Given the description of an element on the screen output the (x, y) to click on. 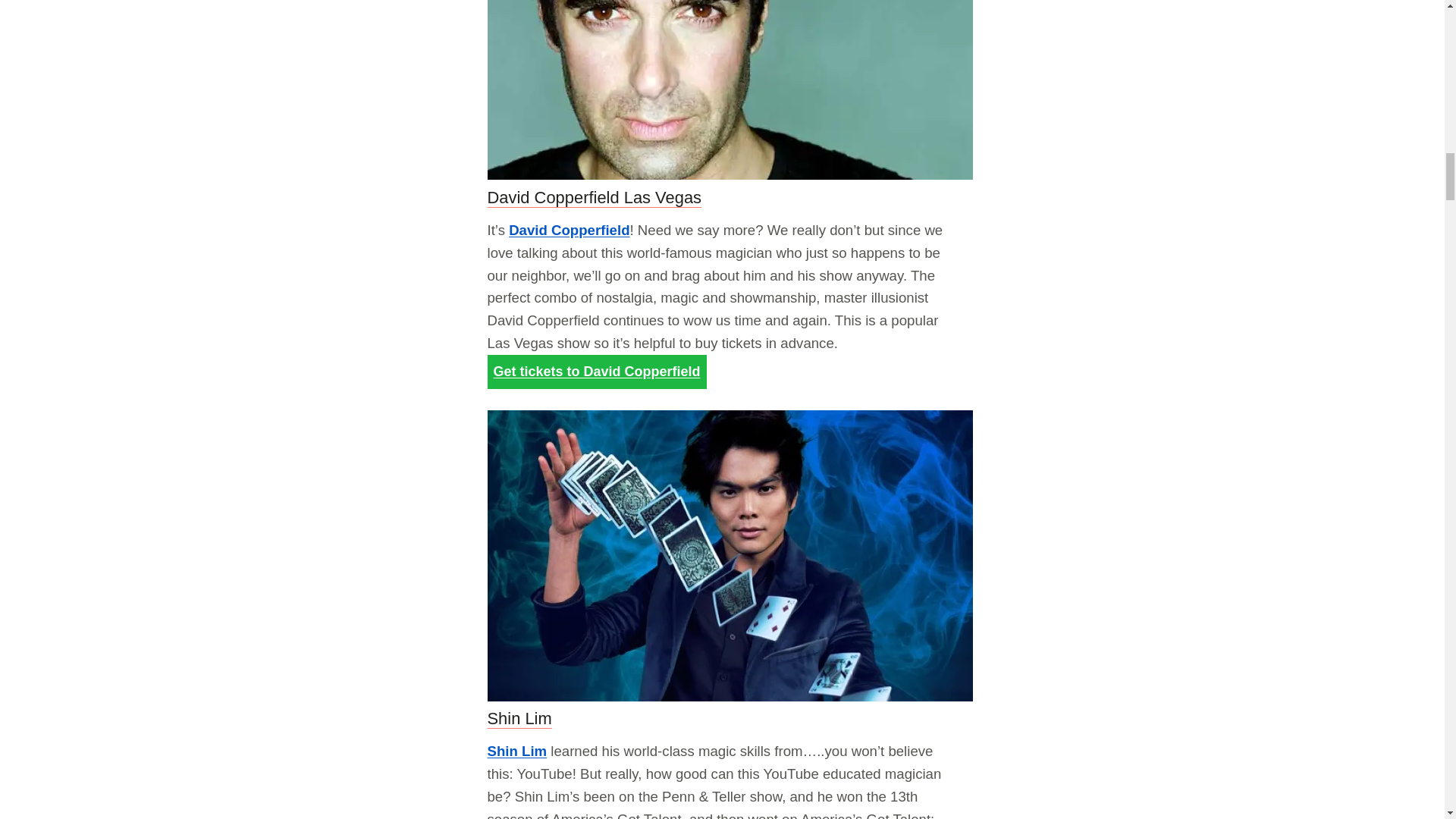
David Copperfield (568, 229)
Shin Lim (516, 750)
Get tickets to David Copperfield (596, 371)
